Given the description of an element on the screen output the (x, y) to click on. 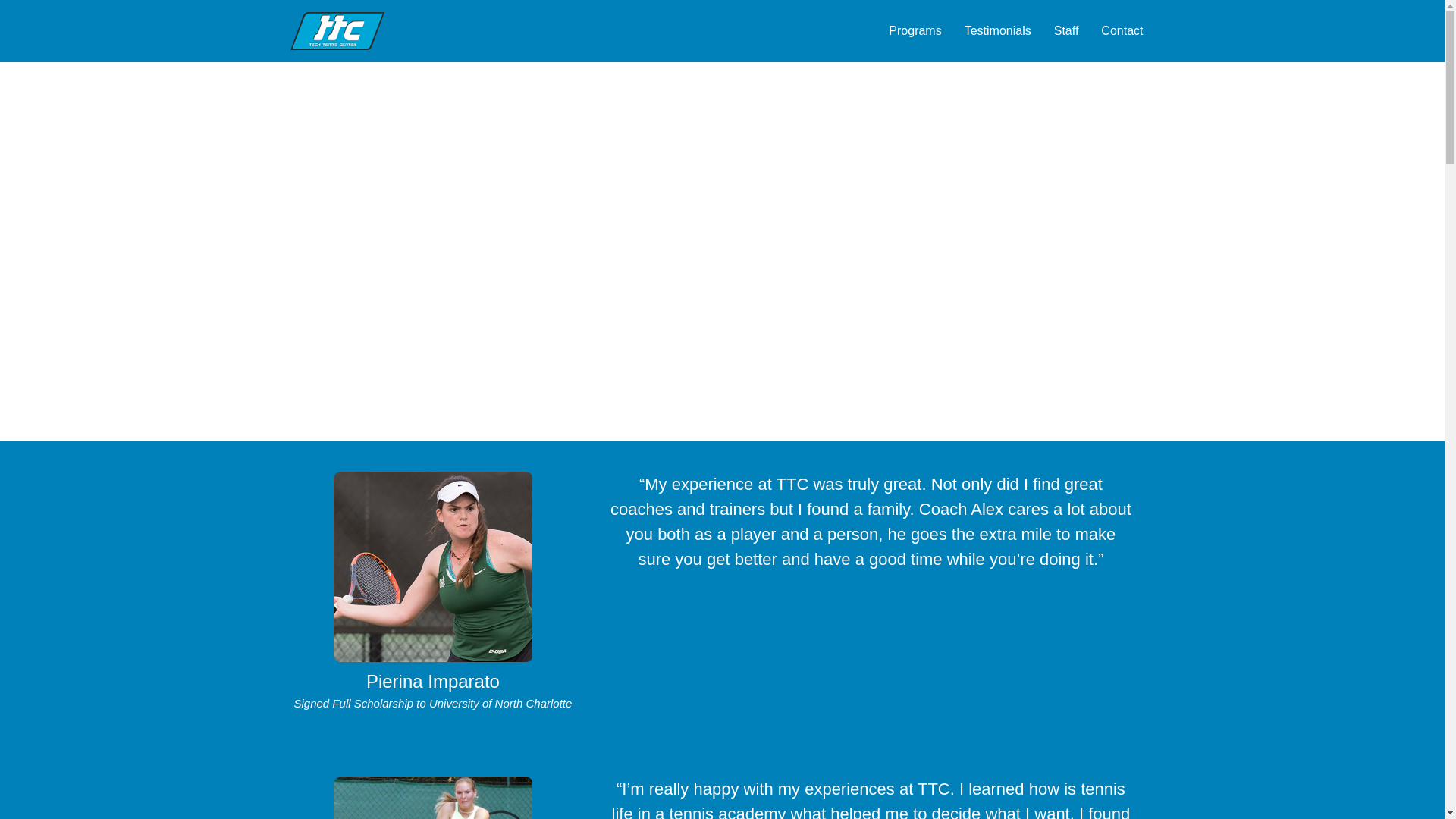
Staff (1066, 30)
Contact (1121, 30)
Testimonials (997, 30)
Programs (914, 30)
